Given the description of an element on the screen output the (x, y) to click on. 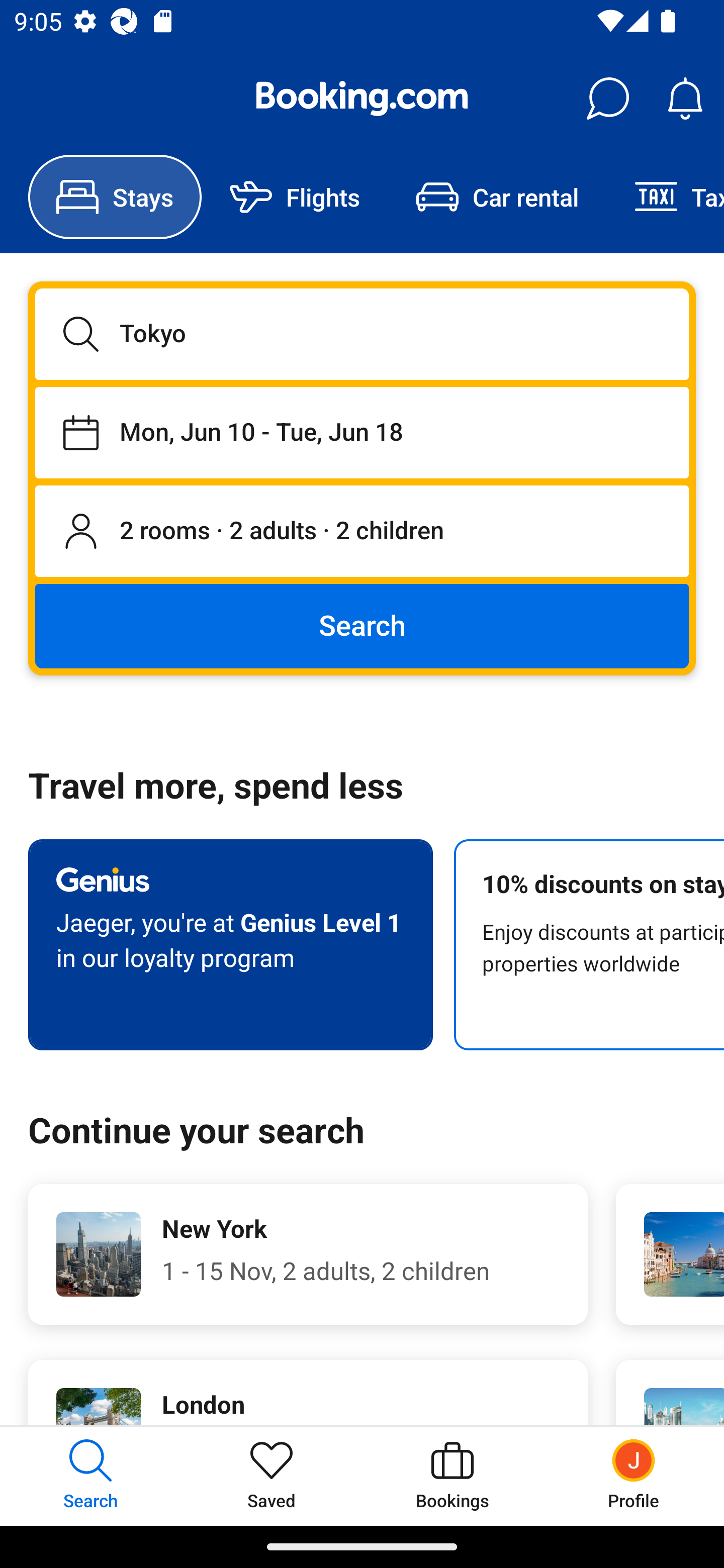
Messages (607, 98)
Notifications (685, 98)
Stays (114, 197)
Flights (294, 197)
Car rental (497, 197)
Taxi (665, 197)
Tokyo (361, 333)
Staying from Mon, Jun 10 until Tue, Jun 18 (361, 432)
2 rooms, 2 adults, 2 children (361, 531)
Search (361, 625)
New York 1 - 15 Nov, 2 adults, 2 children (307, 1253)
Saved (271, 1475)
Bookings (452, 1475)
Profile (633, 1475)
